Given the description of an element on the screen output the (x, y) to click on. 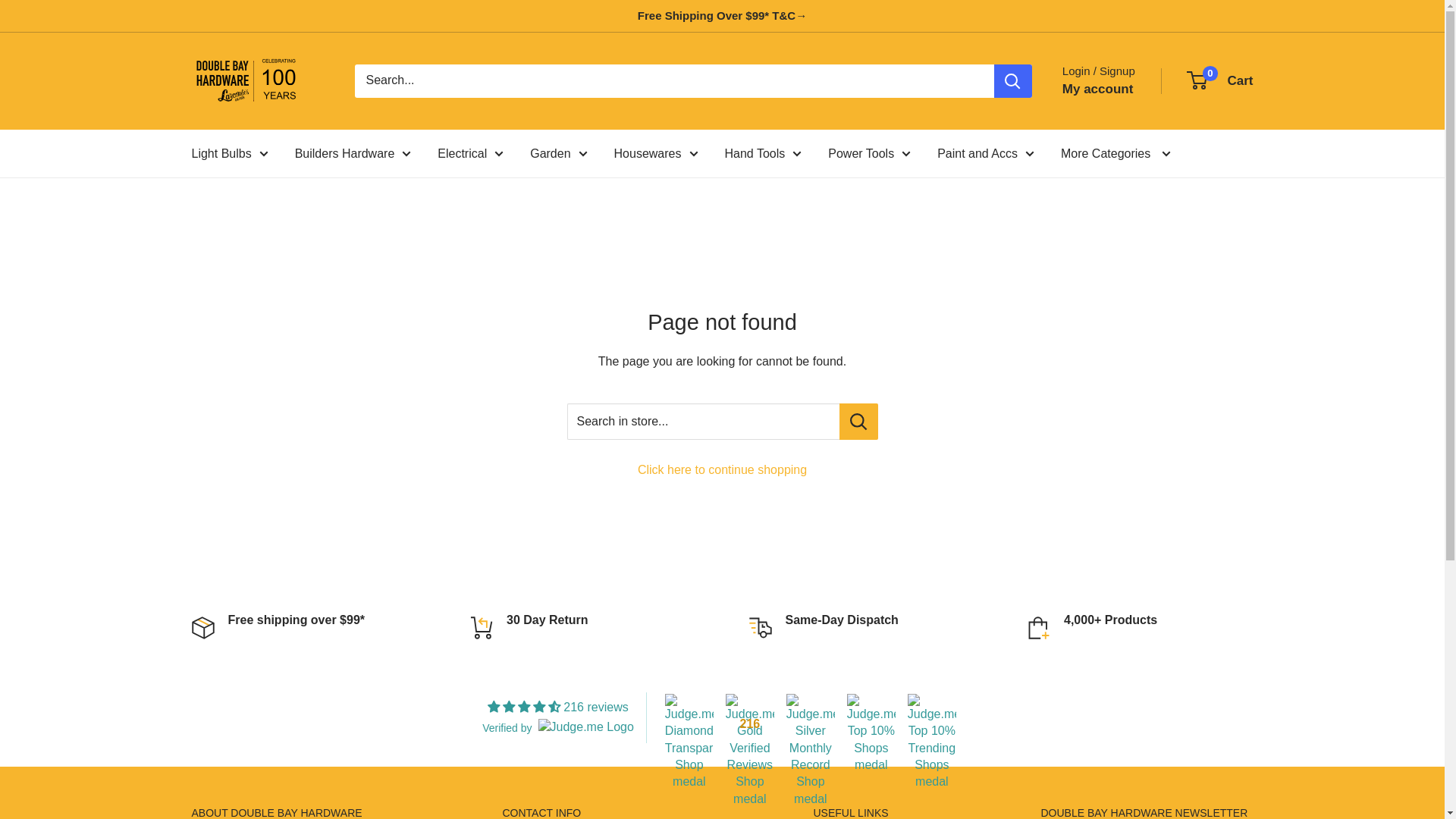
Paint and Accs Element type: text (985, 153)
Power Tools Element type: text (869, 153)
Light Bulbs Element type: text (229, 153)
0
Cart Element type: text (1220, 81)
Builders Hardware Element type: text (352, 153)
216 Element type: text (749, 717)
Electrical Element type: text (470, 153)
Garden Element type: text (558, 153)
Housewares Element type: text (656, 153)
More Categories Element type: text (1115, 153)
Click here to continue shopping Element type: text (721, 469)
Double Bay Hardware Element type: text (257, 80)
My account Element type: text (1097, 89)
Hand Tools Element type: text (763, 153)
